Given the description of an element on the screen output the (x, y) to click on. 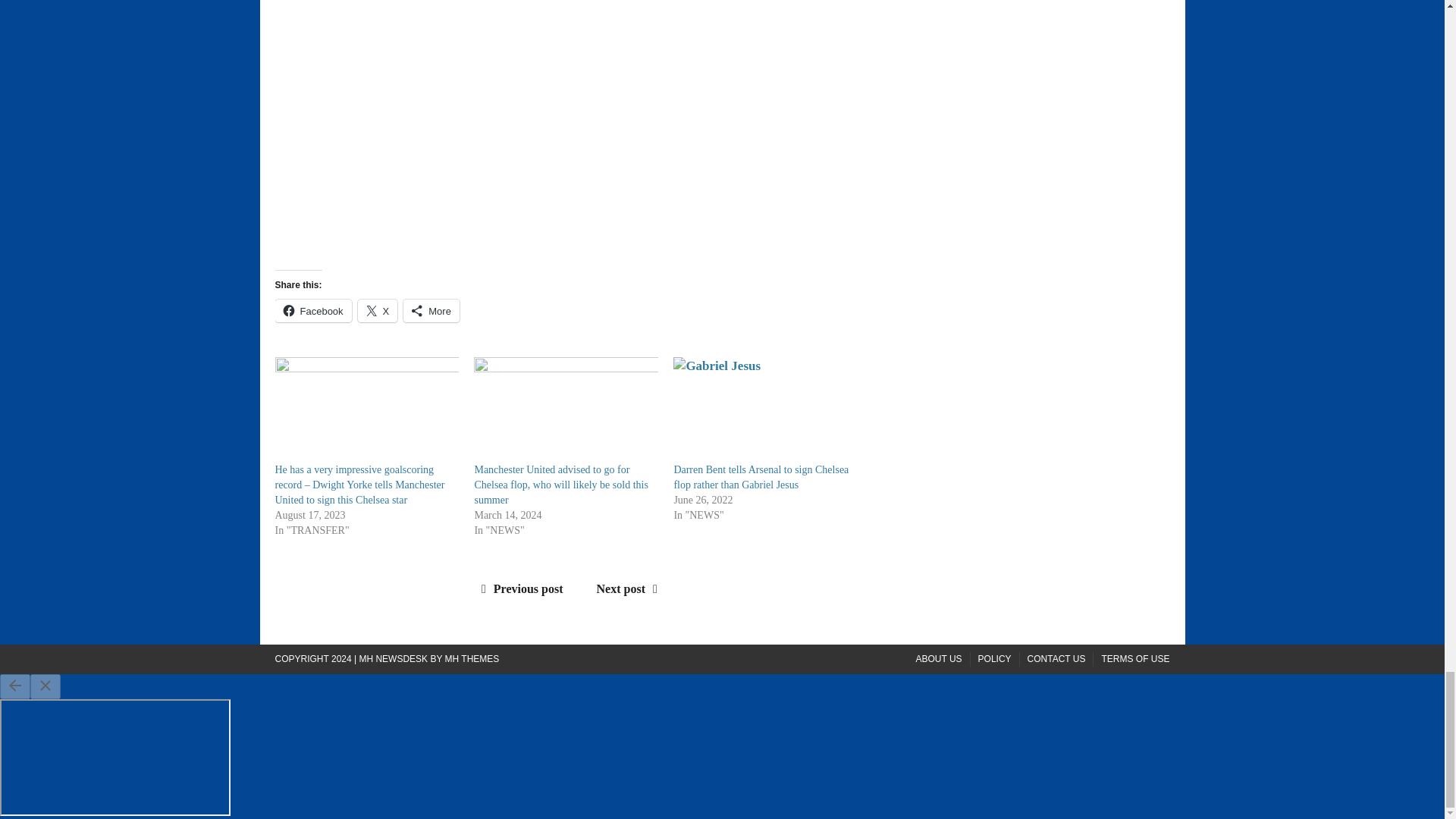
More (431, 310)
ABOUT US (937, 658)
POLICY (994, 658)
Next post (630, 588)
X (377, 310)
Previous post (518, 588)
Facebook (312, 310)
CONTACT US (1056, 658)
